Given the description of an element on the screen output the (x, y) to click on. 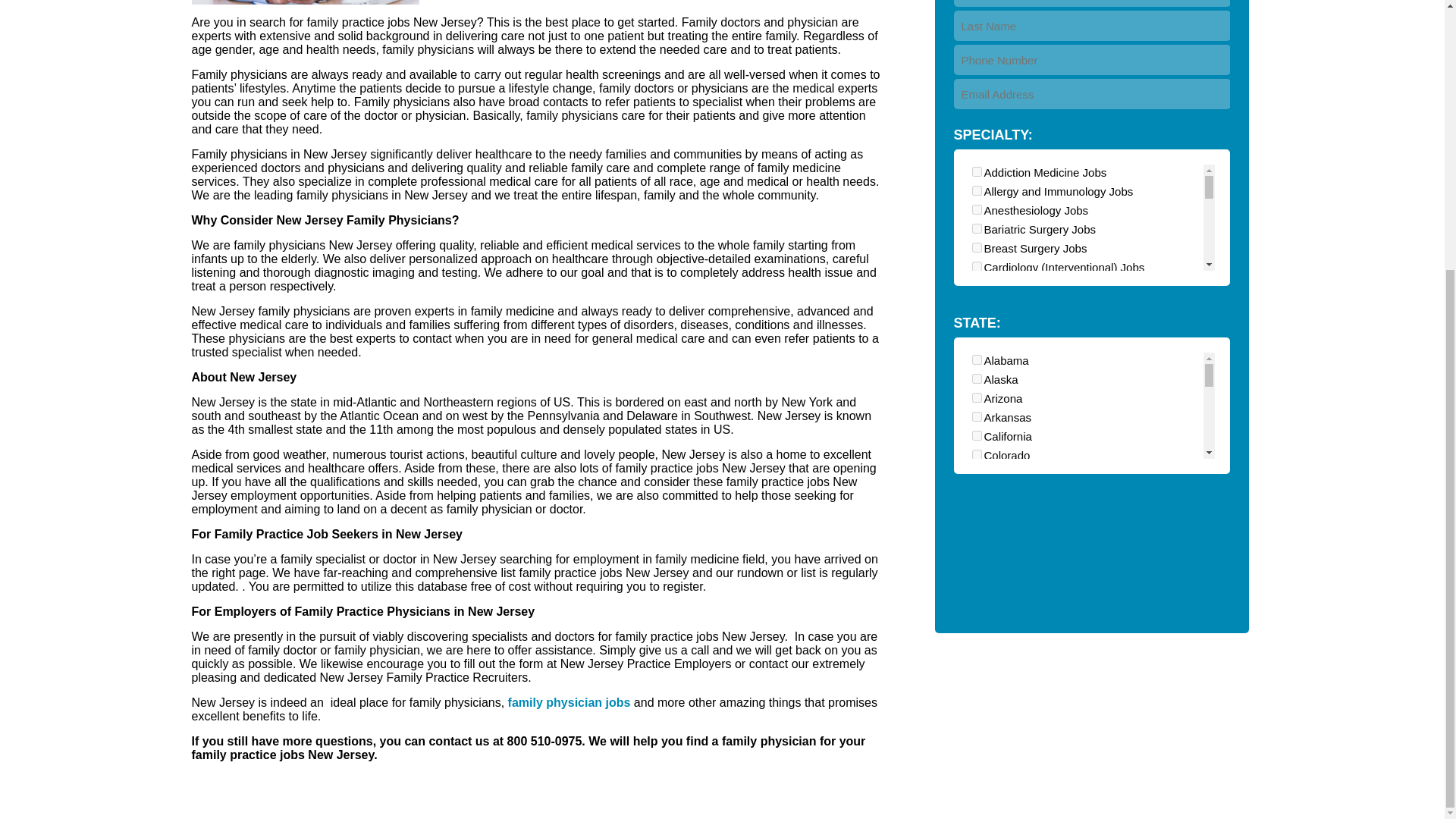
21 (976, 228)
72 (976, 304)
79 (976, 342)
77 (976, 171)
70 (976, 190)
65 (976, 398)
53 (976, 379)
29 (976, 247)
28 (976, 209)
74 (976, 361)
38 (976, 323)
71 (976, 285)
64 (976, 418)
22 (976, 266)
